Given the description of an element on the screen output the (x, y) to click on. 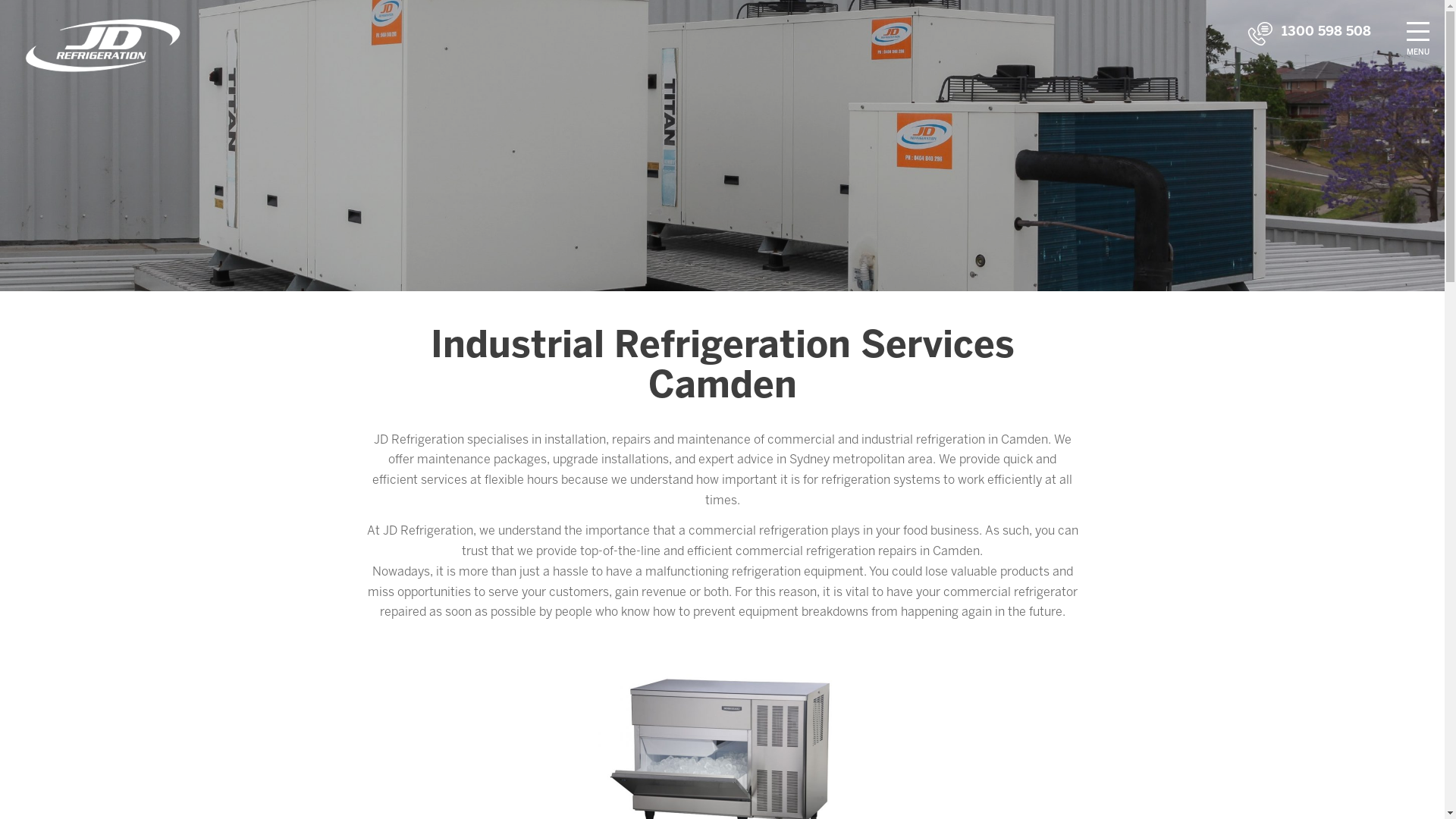
JD Refrigeration Element type: hover (103, 44)
1300 598 508 Element type: text (1326, 30)
